Given the description of an element on the screen output the (x, y) to click on. 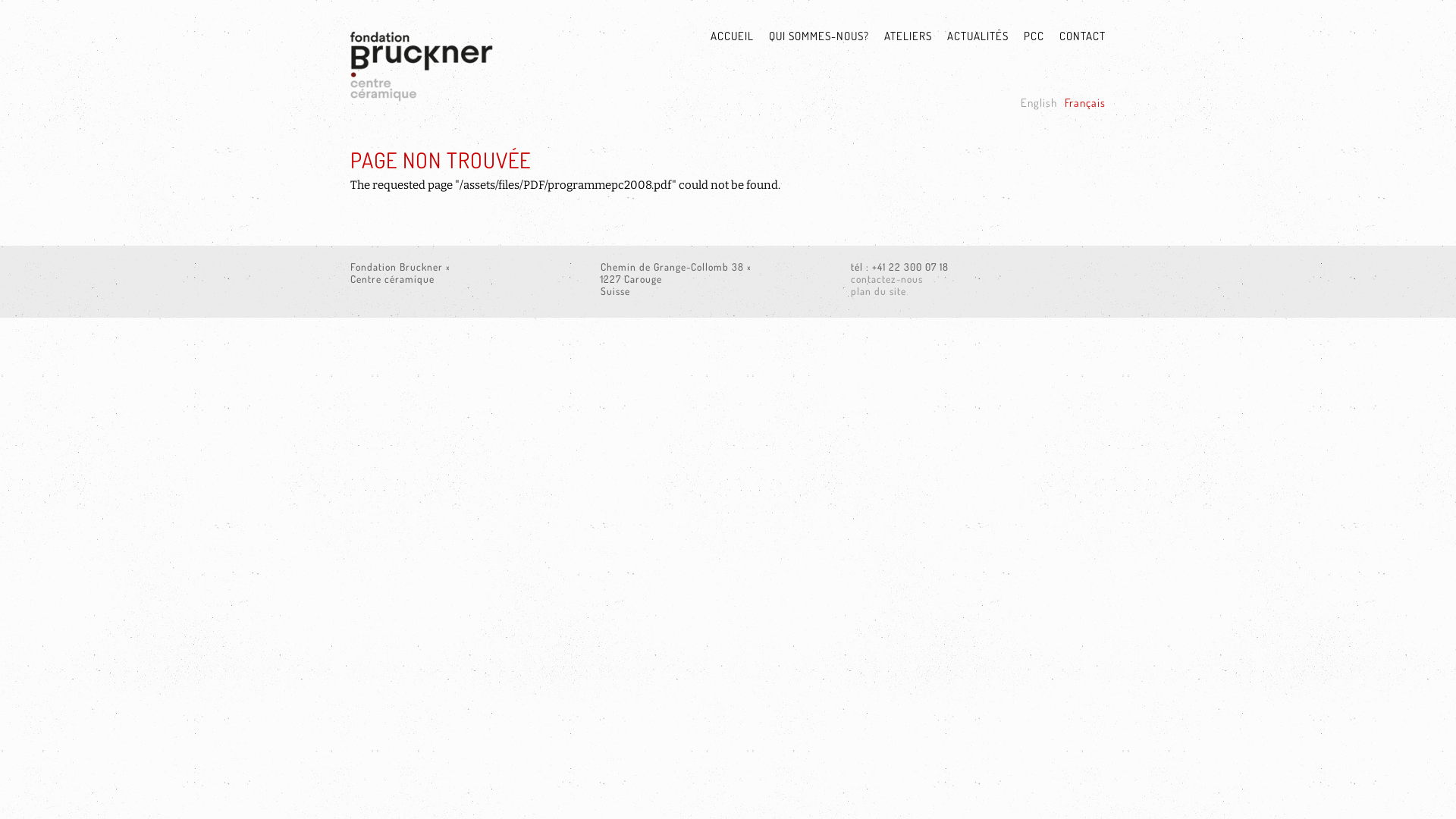
ATELIERS Element type: text (900, 36)
PCC Element type: text (1026, 36)
English Element type: text (1038, 102)
CONTACT Element type: text (1074, 36)
plan du site Element type: text (878, 290)
QUI SOMMES-NOUS? Element type: text (811, 36)
Accueil Element type: hover (482, 72)
ACCUEIL Element type: text (724, 36)
contactez-nous Element type: text (886, 278)
